Given the description of an element on the screen output the (x, y) to click on. 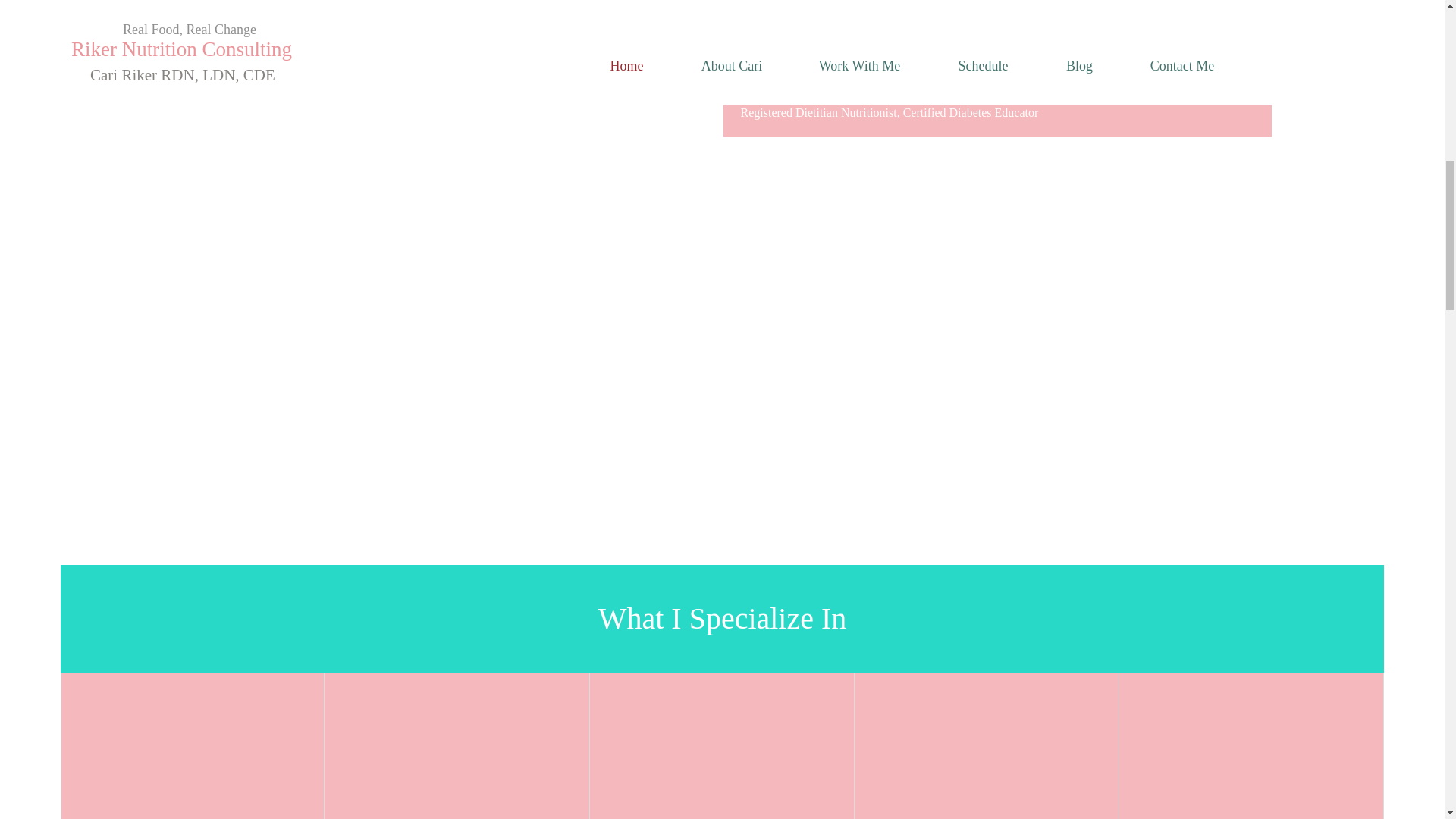
Discover (422, 30)
